Given the description of an element on the screen output the (x, y) to click on. 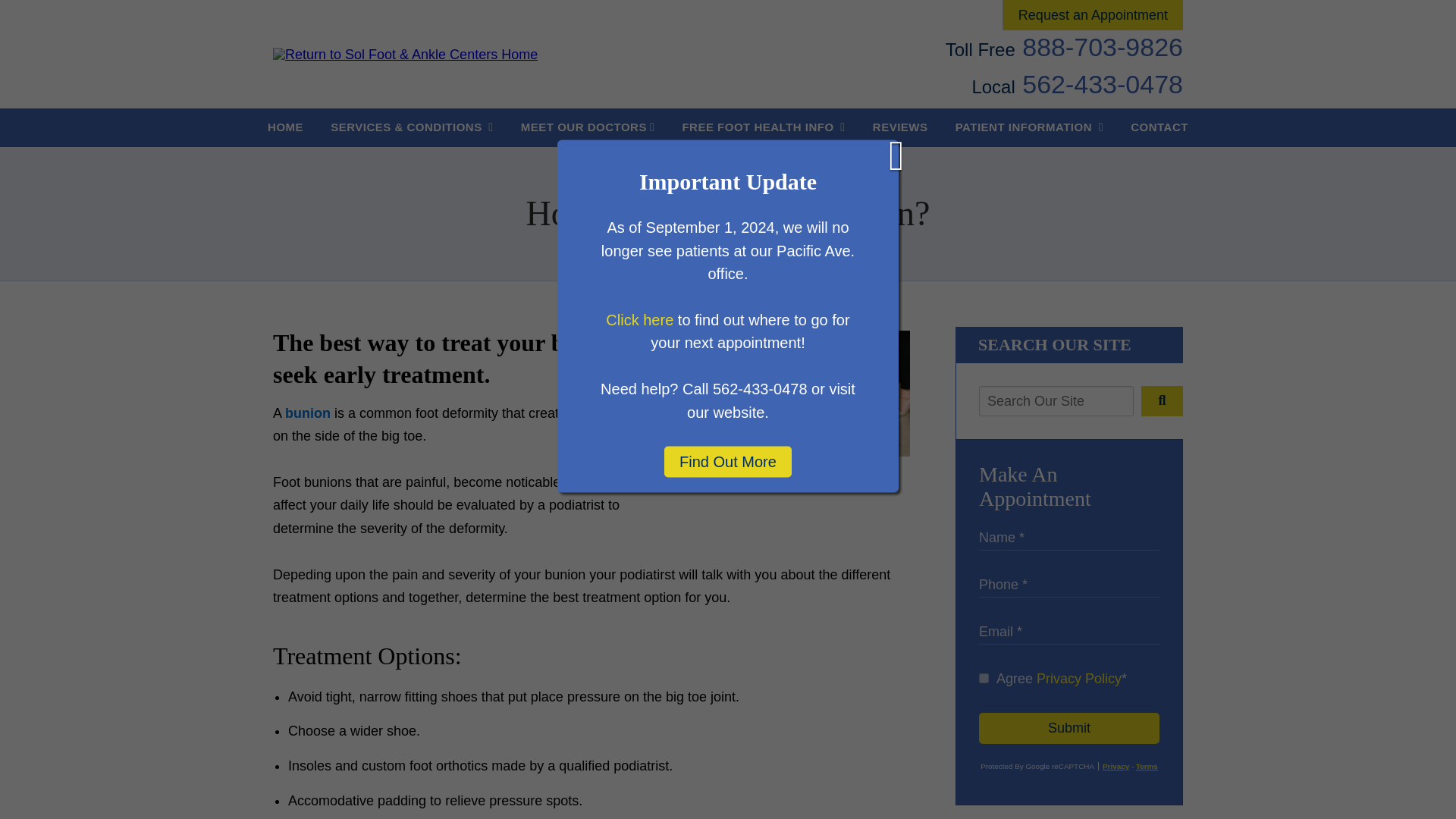
MEET OUR DOCTORS (587, 127)
Click here (638, 319)
Search (1161, 400)
FREE FOOT HEALTH INFO (763, 127)
Find Out More (727, 461)
HOME (285, 127)
Request an Appointment (1092, 14)
1 (983, 678)
